Given the description of an element on the screen output the (x, y) to click on. 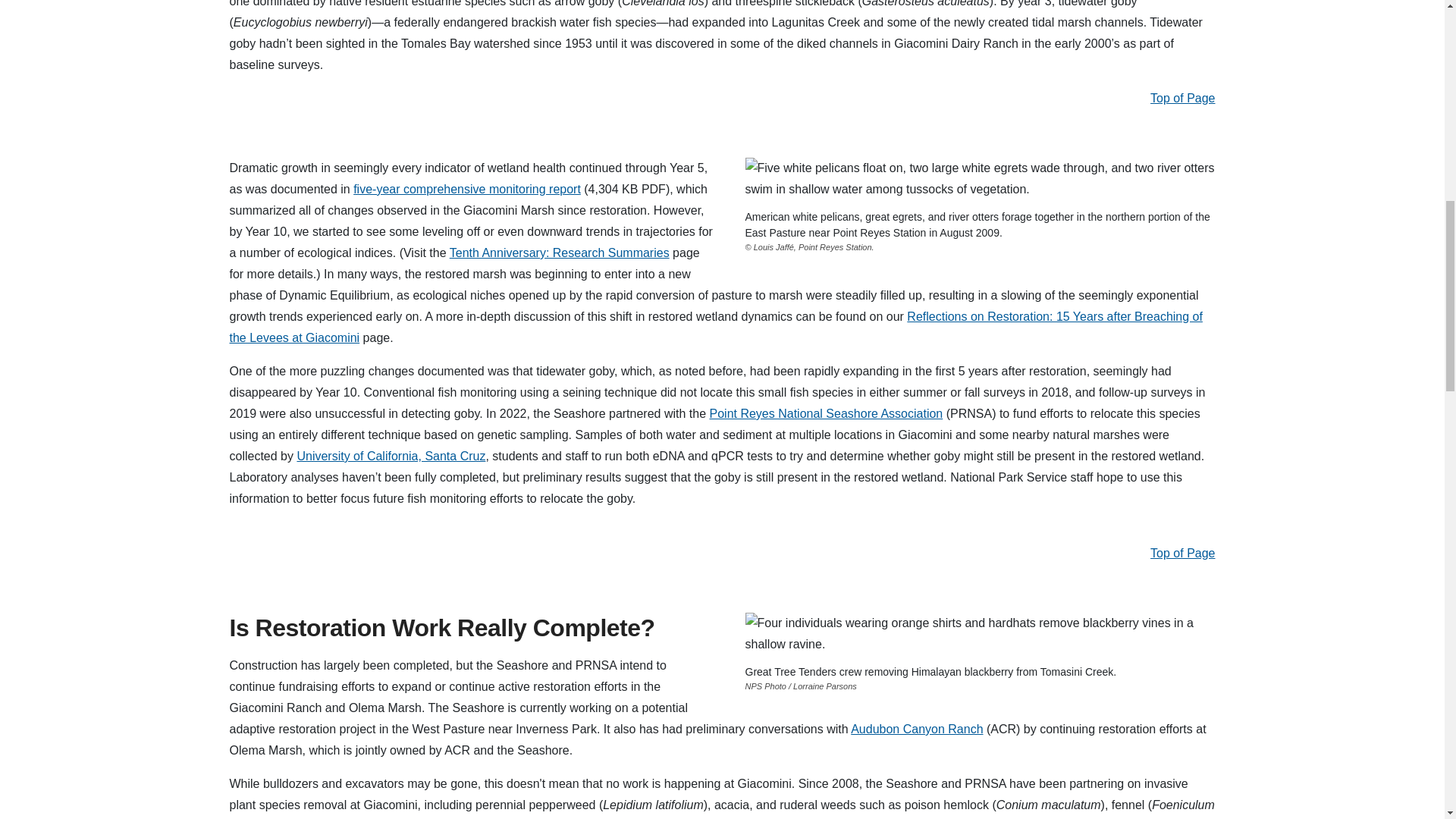
five-year comprehensive monitoring report (466, 188)
Top of Page (1182, 97)
